Given the description of an element on the screen output the (x, y) to click on. 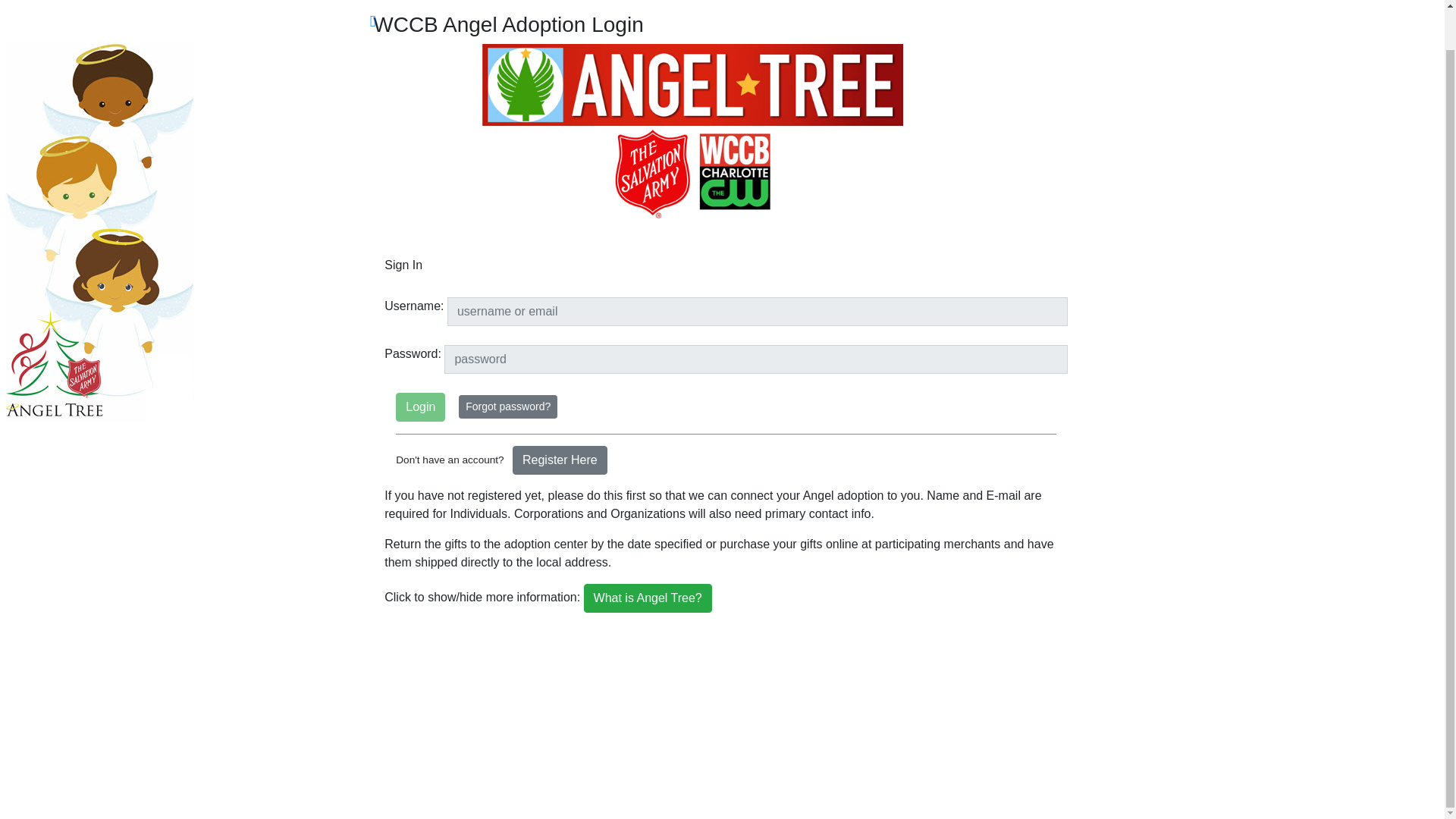
Login (420, 407)
Forgot password? (507, 406)
Register Here (559, 460)
What is Angel Tree? (647, 597)
